Given the description of an element on the screen output the (x, y) to click on. 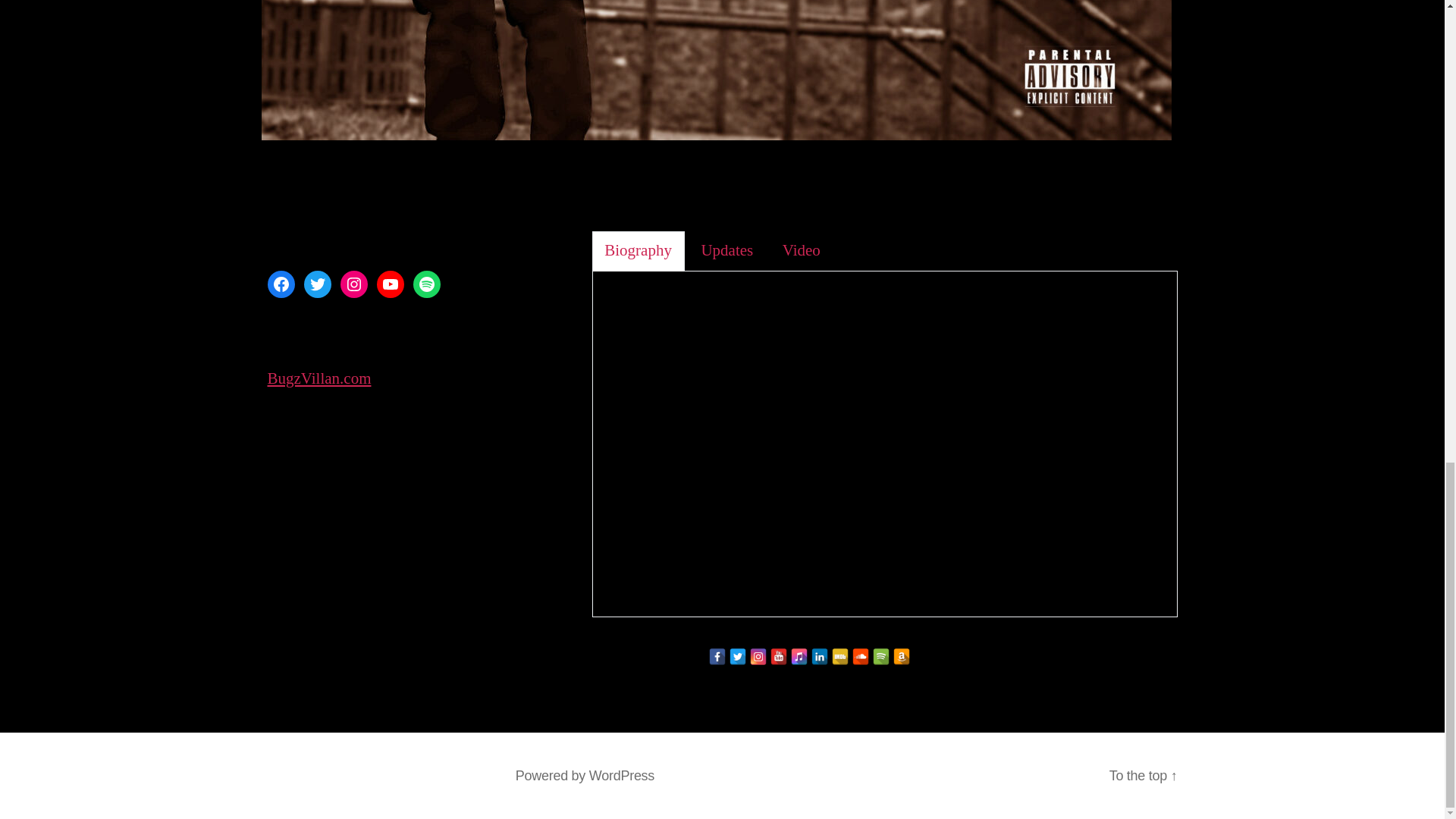
YouTube (778, 656)
BugzVillan.com (318, 378)
Biography (638, 251)
YouTube (389, 284)
Twitter (737, 656)
LinkedIn (819, 656)
Twitter (316, 284)
Instagram (758, 656)
Amazon (901, 656)
Facebook (280, 284)
